Given the description of an element on the screen output the (x, y) to click on. 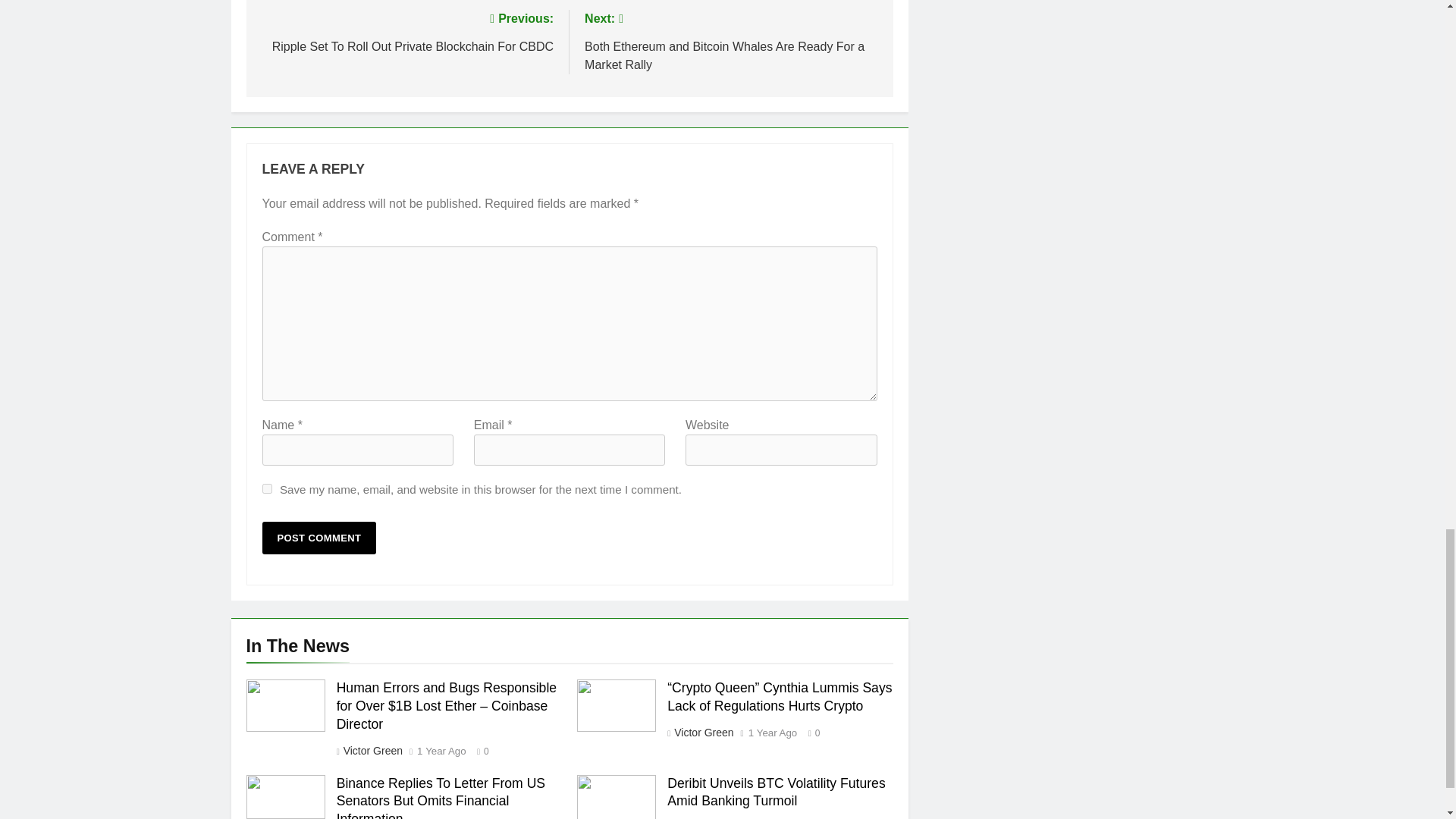
yes (267, 489)
Post Comment (319, 538)
